Given the description of an element on the screen output the (x, y) to click on. 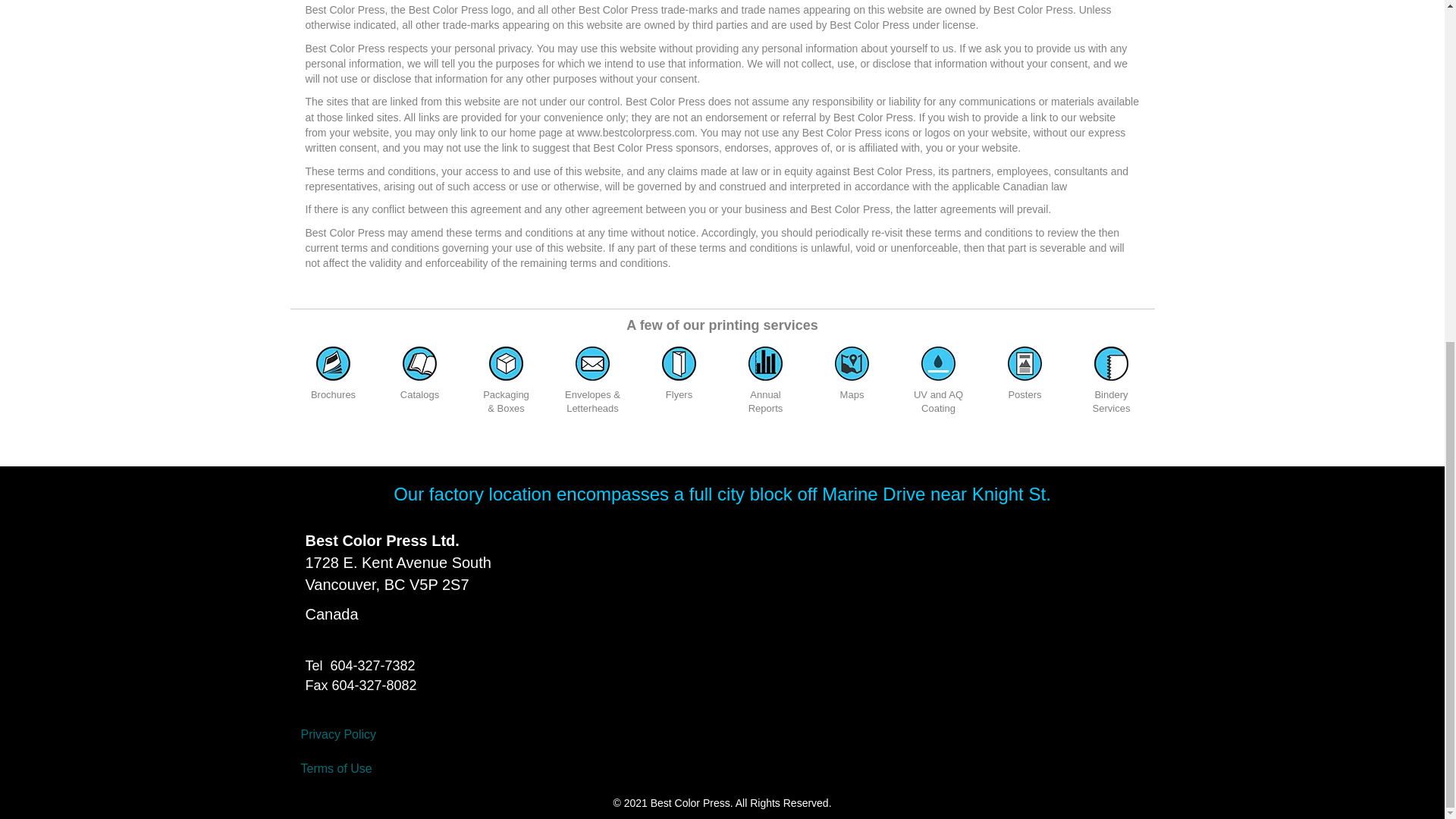
Posters (1024, 363)
Catalogs (419, 363)
Flyers (678, 363)
Privacy Policy (440, 734)
UV and AQ (938, 363)
Terms of Use (440, 768)
Maps (851, 363)
Annual Reports (765, 363)
Brochures (332, 363)
Bindery Services (1111, 363)
